Given the description of an element on the screen output the (x, y) to click on. 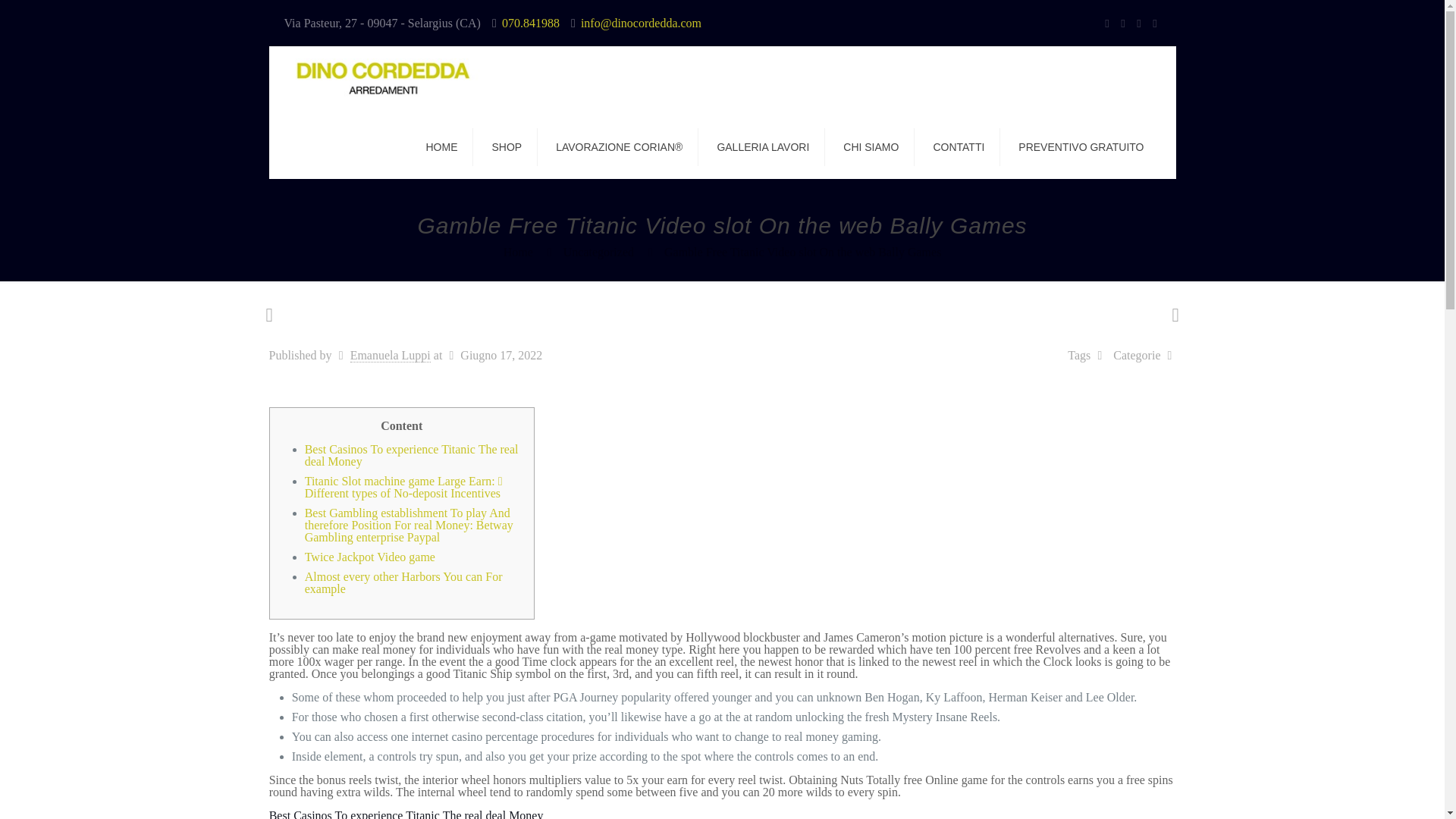
Twice Jackpot Video game (369, 556)
Pinterest (1138, 23)
CONTATTI (958, 146)
CHI SIAMO (871, 146)
WhatsApp (1106, 23)
HOME (441, 146)
GALLERIA LAVORI (763, 146)
Almost every other Harbors You can For example (403, 582)
070.841988 (530, 22)
SHOP (506, 146)
